Given the description of an element on the screen output the (x, y) to click on. 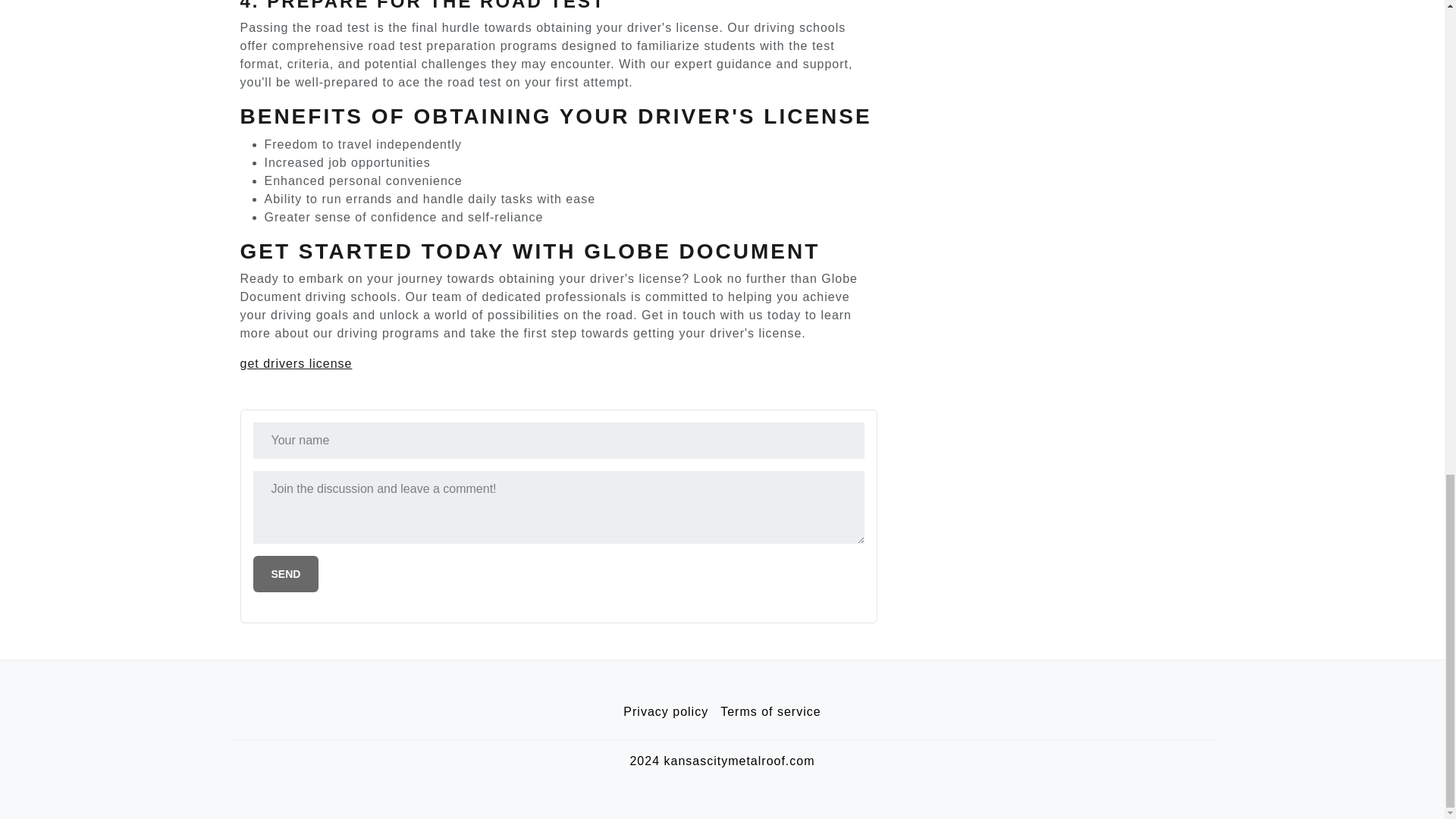
Send (285, 574)
Send (285, 574)
Terms of service (770, 711)
Privacy policy (665, 711)
get drivers license (296, 363)
